Given the description of an element on the screen output the (x, y) to click on. 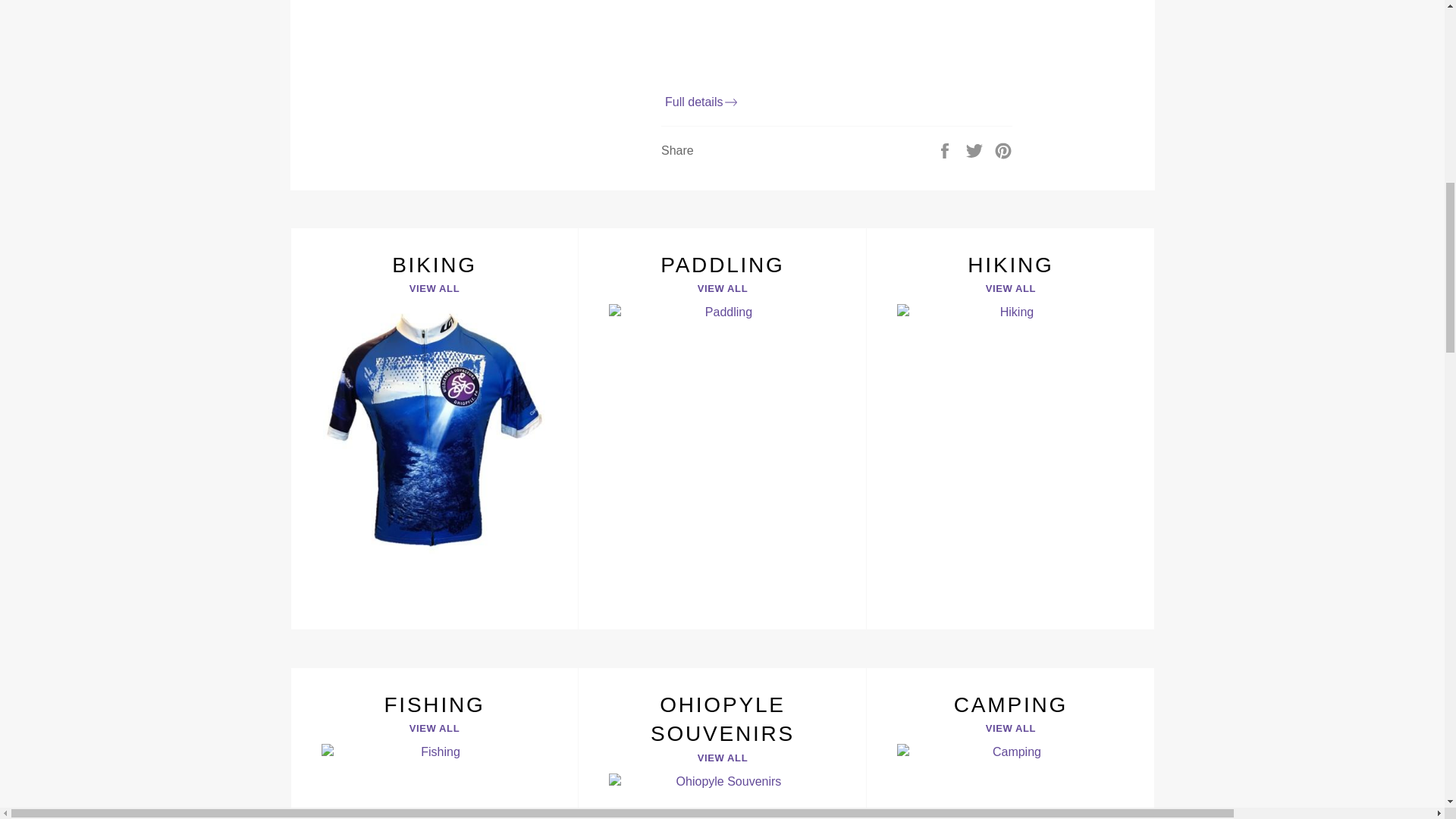
Browse our Camping collection (1010, 743)
Pin on Pinterest (1002, 149)
Browse our Fishing collection (433, 743)
Tweet on Twitter (976, 149)
Browse our Ohiopyle Souvenirs collection (722, 743)
Share on Facebook (946, 149)
